Given the description of an element on the screen output the (x, y) to click on. 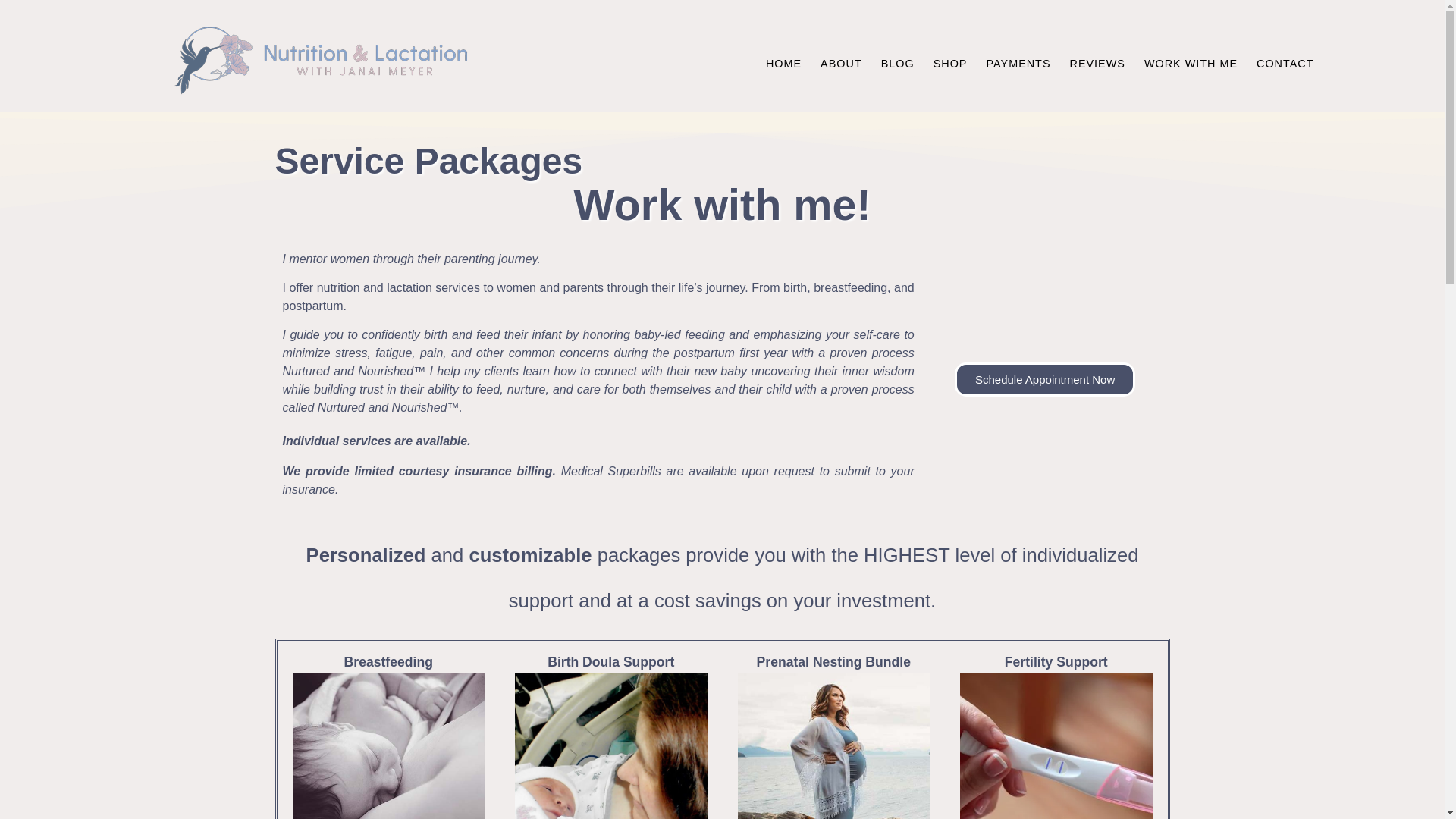
SHOP (950, 63)
Nutrition and Lactation Blog (897, 63)
Online Payment Portal (1018, 63)
PAYMENTS (1018, 63)
ABOUT (840, 63)
WORK WITH ME (1190, 63)
Reviews and Testimonials (1097, 63)
BLOG (897, 63)
CONTACT (1284, 63)
Janai Meyer, RD, LD, IBCLC (783, 63)
Nutrition and Lactation Services (1190, 63)
REVIEWS (1097, 63)
HOME (783, 63)
